Given the description of an element on the screen output the (x, y) to click on. 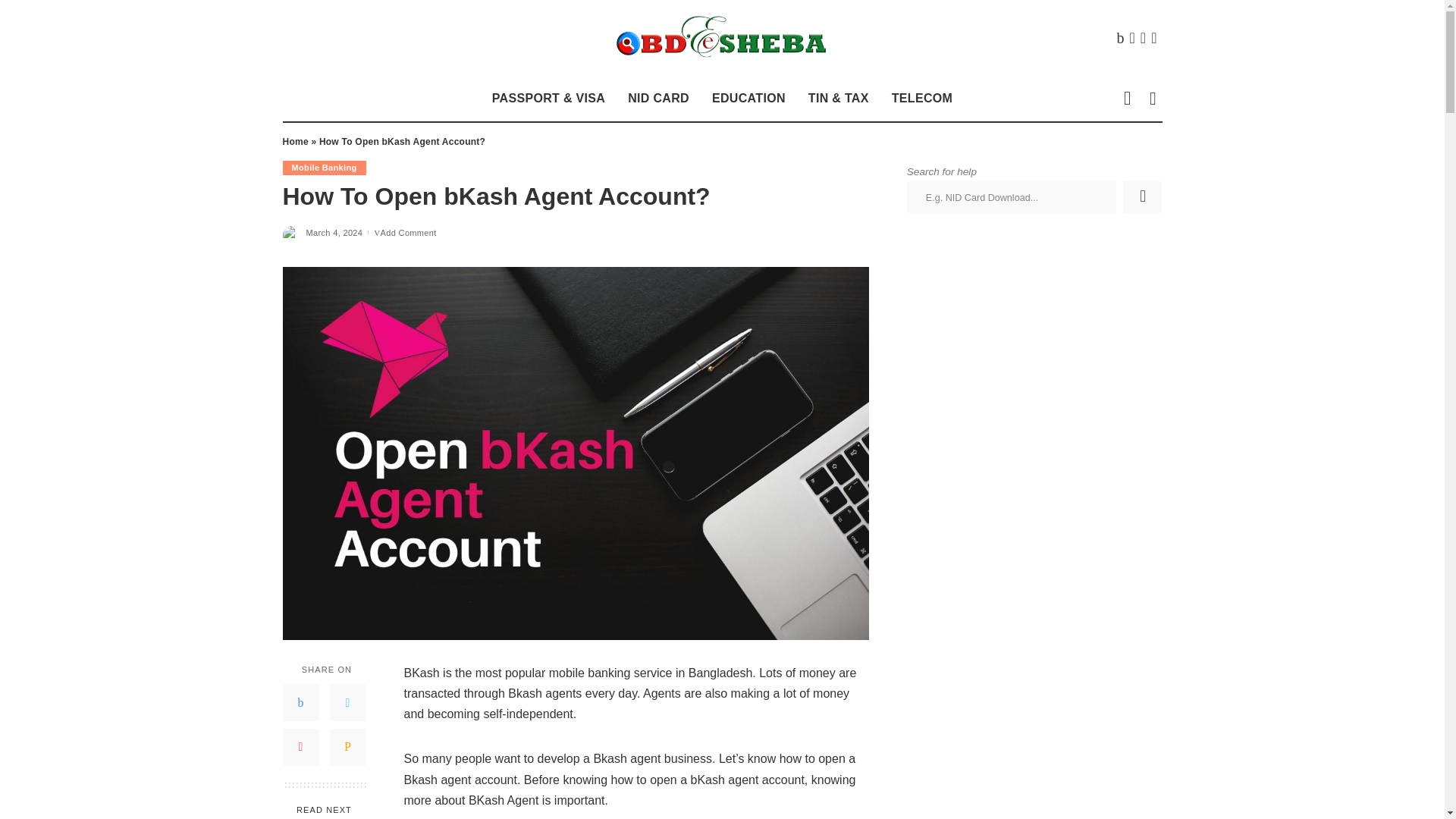
Search (1140, 152)
NID CARD (657, 98)
BDesheba.Com (721, 37)
EDUCATION (748, 98)
TELECOM (921, 98)
